Given the description of an element on the screen output the (x, y) to click on. 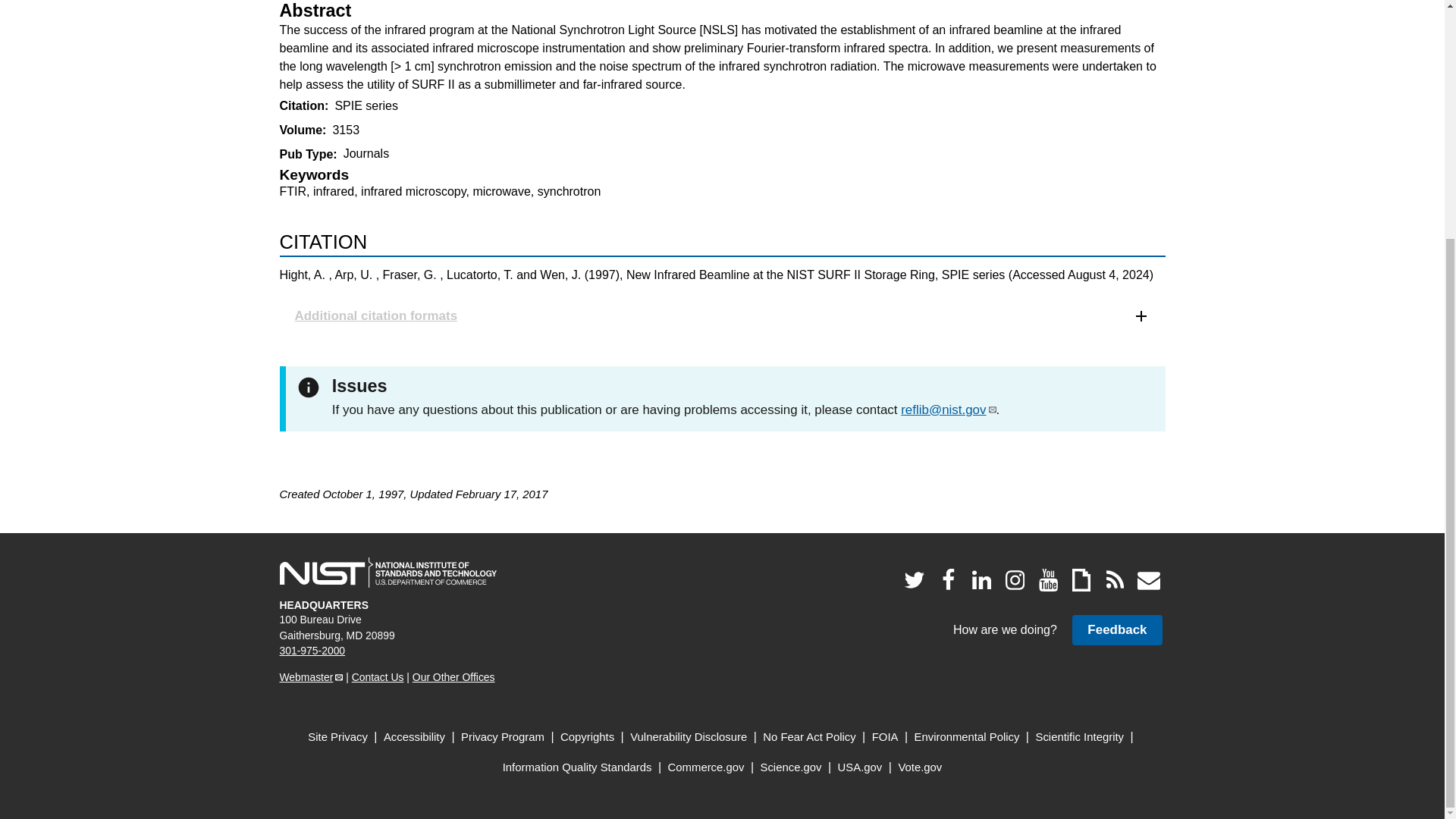
Our Other Offices (453, 676)
Contact Us (378, 676)
Scientific Integrity (1079, 736)
FOIA (885, 736)
Webmaster (310, 676)
Copyrights (587, 736)
Site Privacy (337, 736)
Information Quality Standards (577, 767)
Accessibility (414, 736)
Privacy Program (502, 736)
Feedback (1116, 629)
No Fear Act Policy (809, 736)
Additional citation formats (721, 315)
Environmental Policy (967, 736)
301-975-2000 (312, 650)
